Given the description of an element on the screen output the (x, y) to click on. 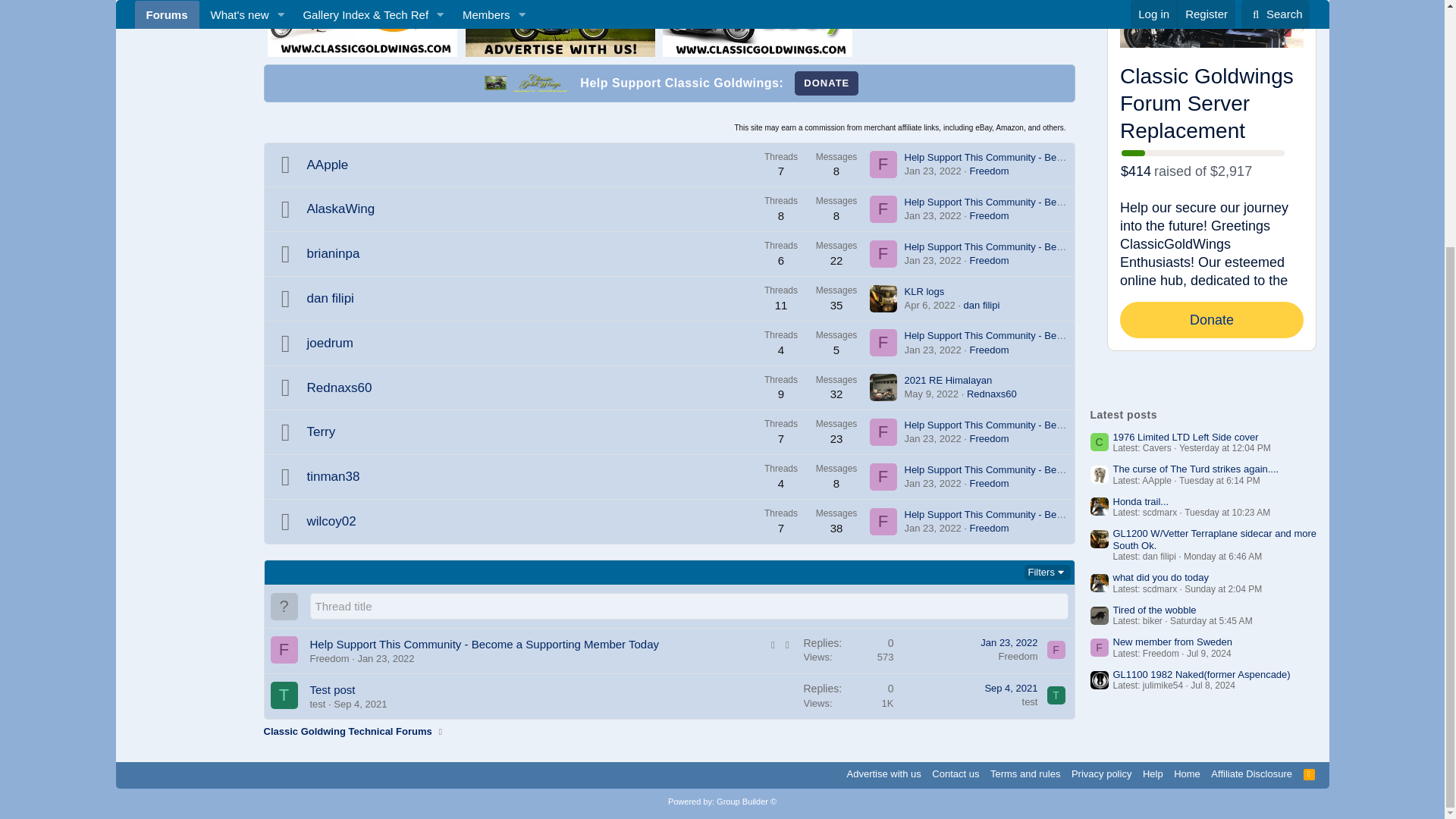
KLR logs (923, 291)
2021 RE Himalayan (947, 379)
Jan 23, 2022 at 3:19 PM (932, 170)
Jan 23, 2022 at 3:19 PM (932, 215)
Jan 23, 2022 at 3:19 PM (932, 438)
Donate (826, 83)
Jan 23, 2022 at 3:19 PM (932, 260)
May 9, 2022 at 3:18 PM (931, 393)
PayPal - The safer, easier way to pay online! (826, 83)
Apr 6, 2022 at 7:09 AM (929, 305)
